Given the description of an element on the screen output the (x, y) to click on. 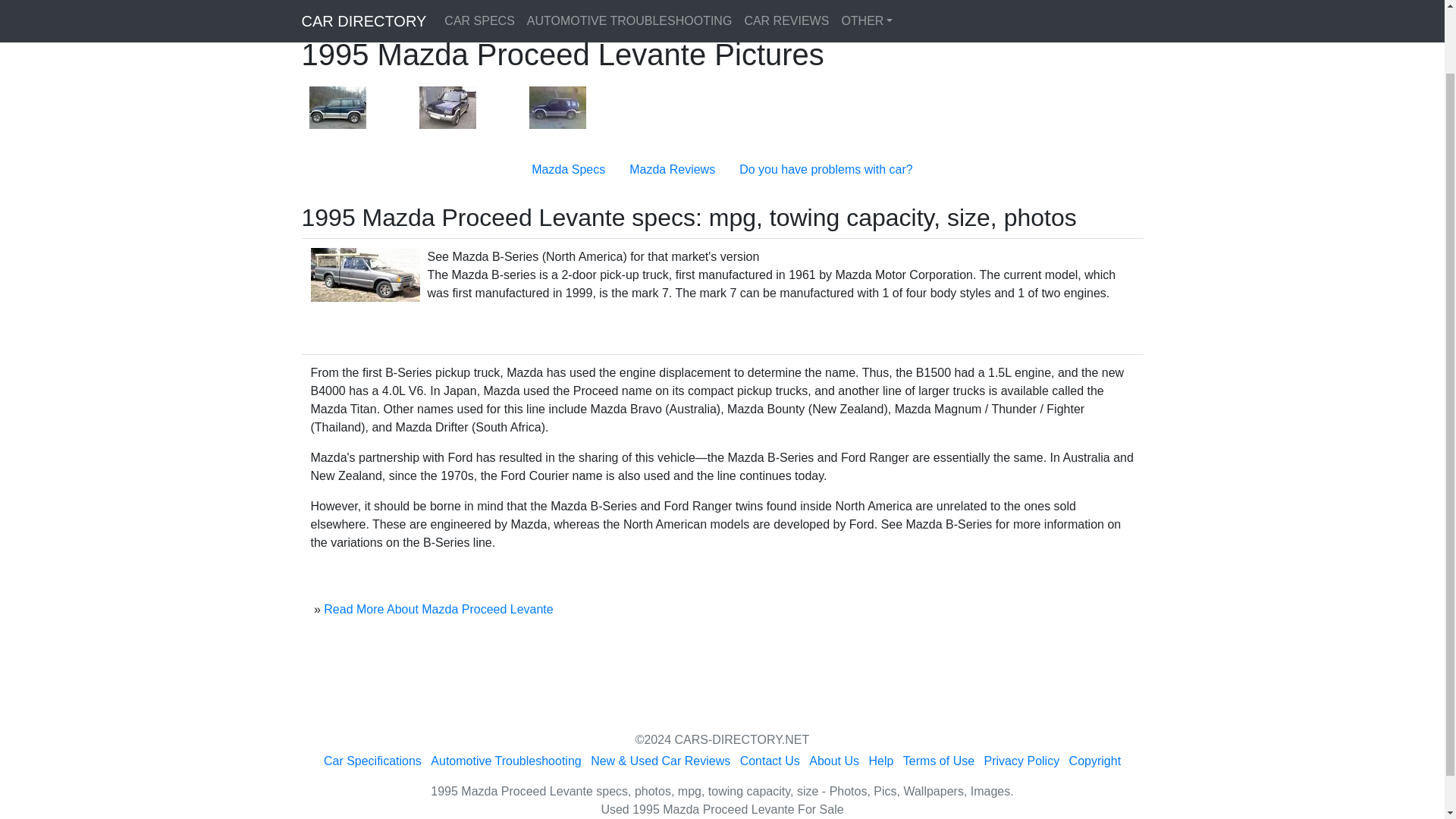
Read More About Mazda Proceed Levante (438, 608)
Do you have problems with car? (825, 169)
Contact Us (769, 760)
Mazda Specs (568, 169)
Copyright (1094, 760)
Home (336, 6)
Terms of Use (938, 760)
The full specification on the Mazda (568, 169)
Proceed Levante (470, 6)
Mazda Reviews (671, 169)
